Given the description of an element on the screen output the (x, y) to click on. 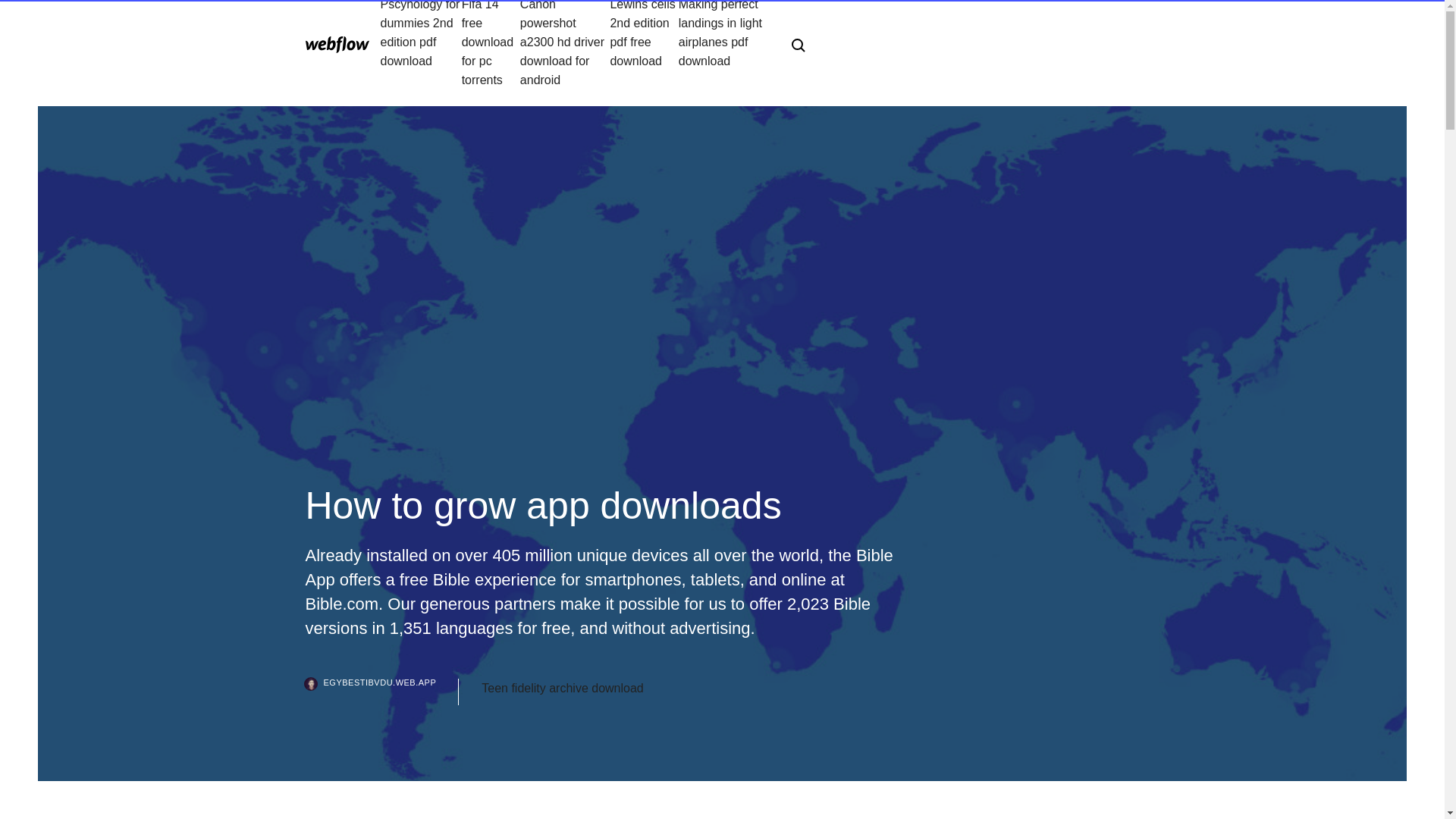
Making perfect landings in light airplanes pdf download (722, 44)
EGYBESTIBVDU.WEB.APP (381, 691)
Pscyhology for dummies 2nd edition pdf download (420, 44)
Teen fidelity archive download (562, 687)
Canon powershot a2300 hd driver download for android (564, 44)
Fifa 14 free download for pc torrents (490, 44)
Lewins cells 2nd edition pdf free download (644, 44)
